Given the description of an element on the screen output the (x, y) to click on. 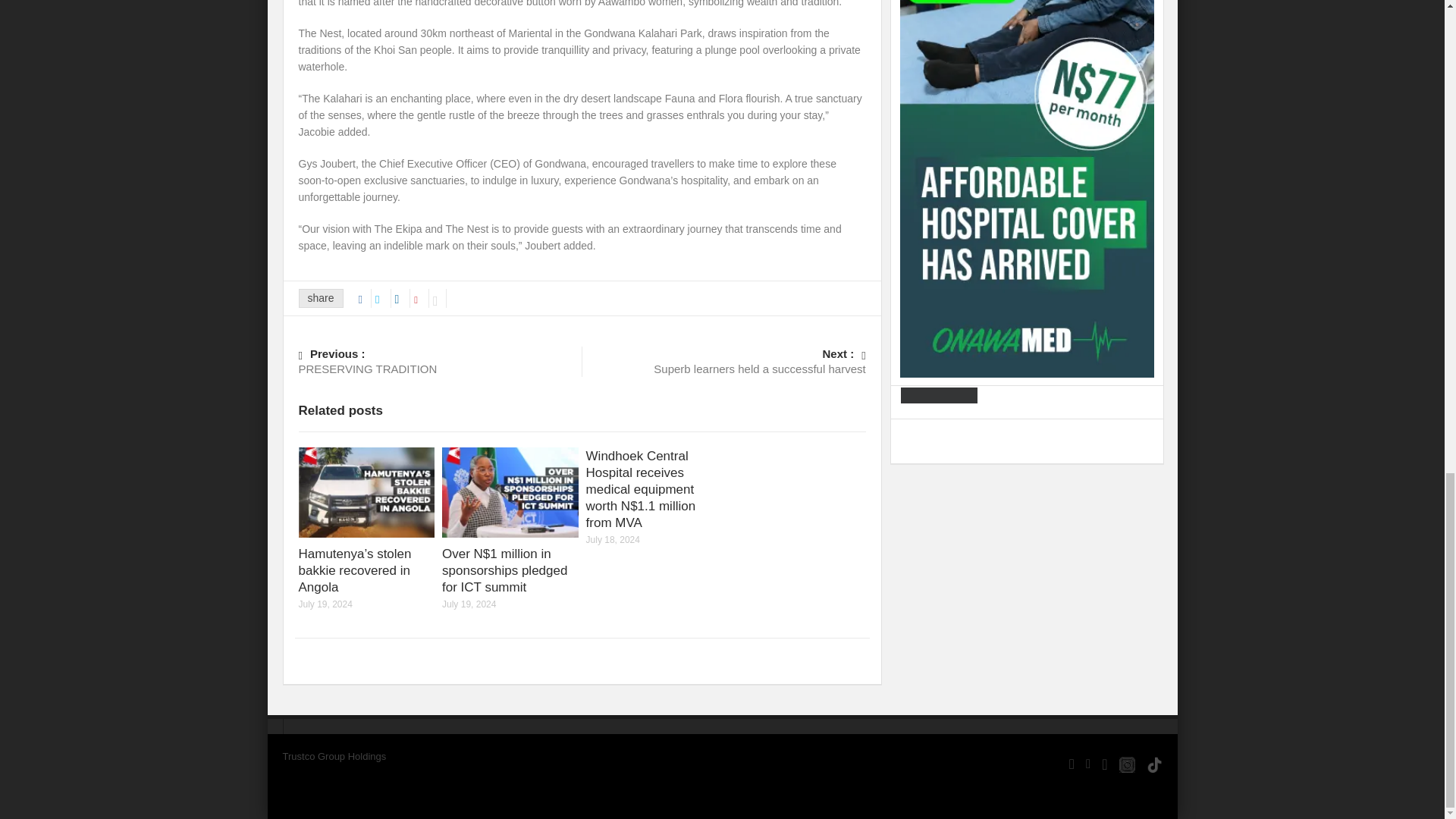
Trustco Finance (439, 360)
